Given the description of an element on the screen output the (x, y) to click on. 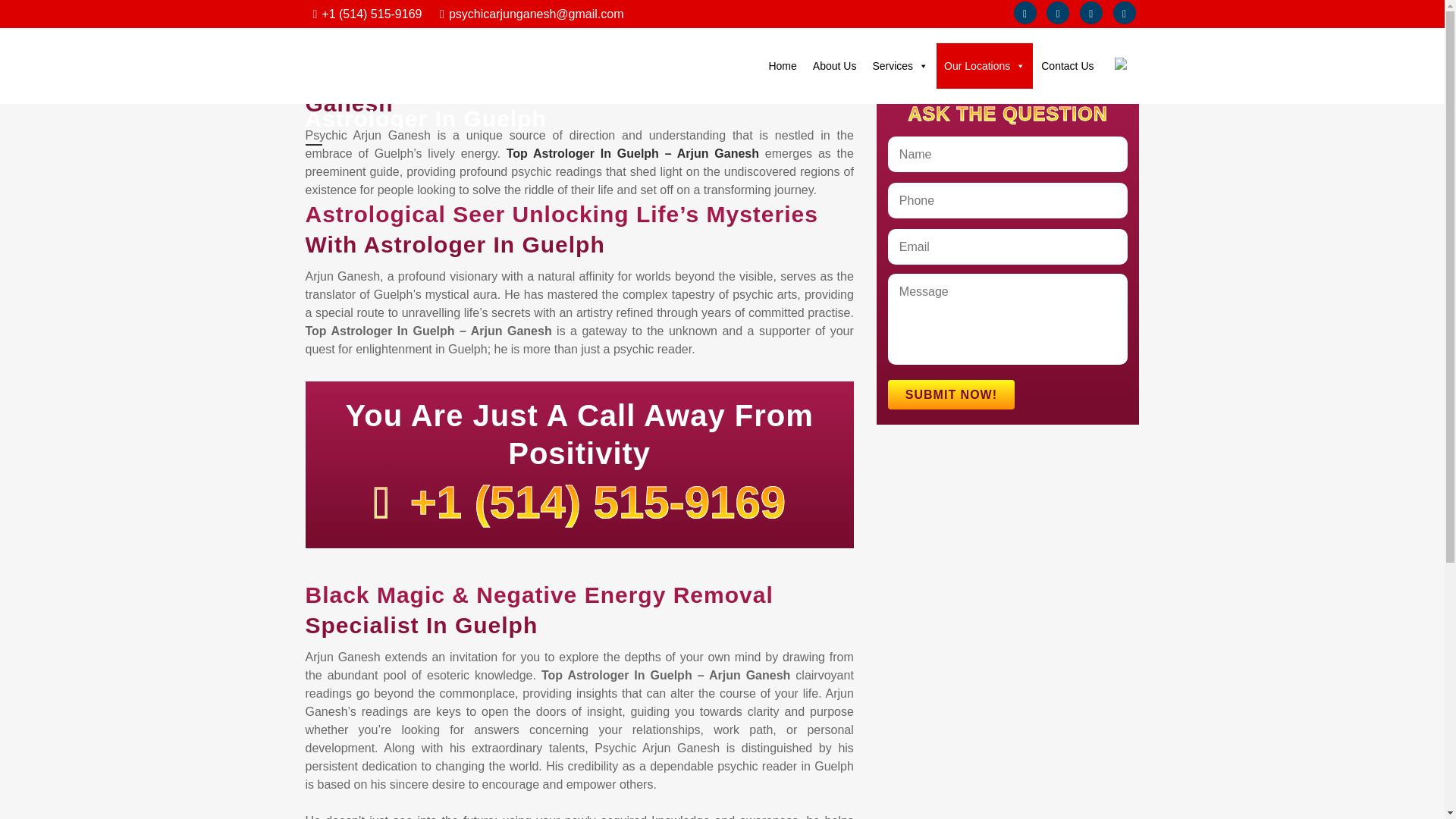
Home (781, 65)
Services (900, 65)
Submit Now! (951, 394)
About Us (834, 65)
Our Locations (984, 65)
